Given the description of an element on the screen output the (x, y) to click on. 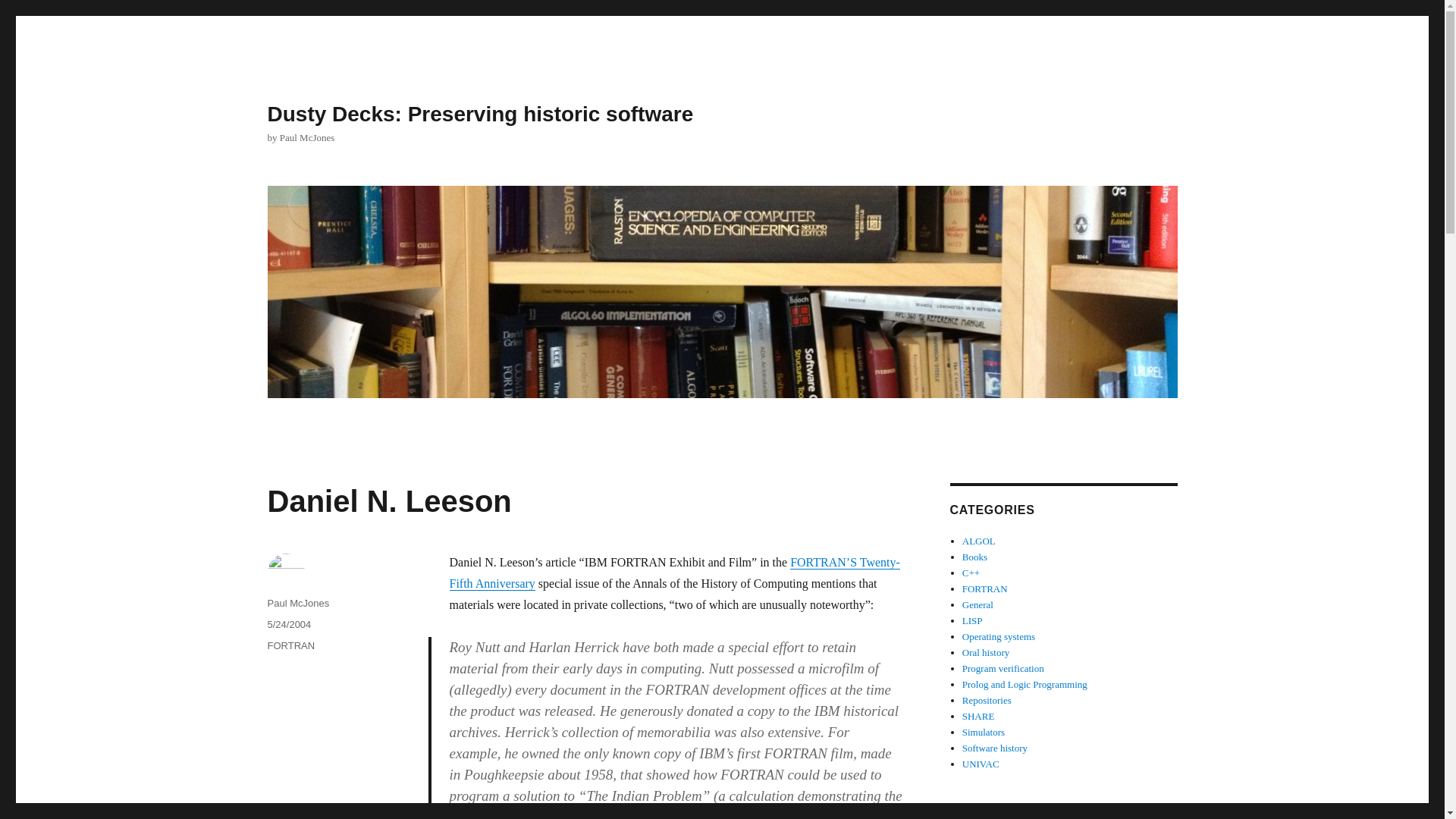
Software history (994, 747)
Operating systems (998, 636)
FORTRAN (290, 645)
Paul McJones (297, 603)
SHARE (978, 715)
LISP (972, 620)
FORTRAN (984, 588)
General (977, 604)
Oral history (985, 652)
ALGOL (978, 541)
UNIVAC (980, 763)
Simulators (983, 731)
Prolog and Logic Programming (1024, 684)
Dusty Decks: Preserving historic software (479, 114)
Program verification (1002, 668)
